Given the description of an element on the screen output the (x, y) to click on. 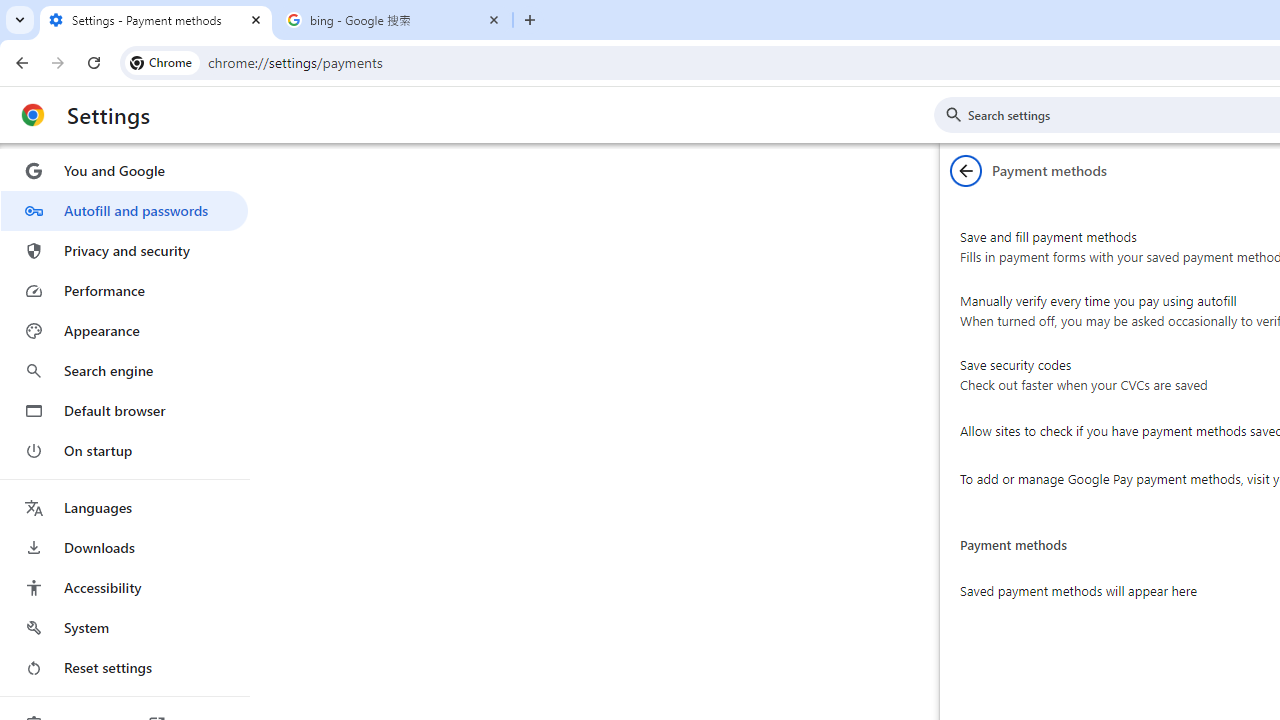
Performance (124, 290)
Accessibility (124, 587)
Autofill and passwords (124, 210)
On startup (124, 450)
Default browser (124, 410)
Downloads (124, 547)
Settings - Payment methods (156, 20)
You and Google (124, 170)
Languages (124, 507)
